Given the description of an element on the screen output the (x, y) to click on. 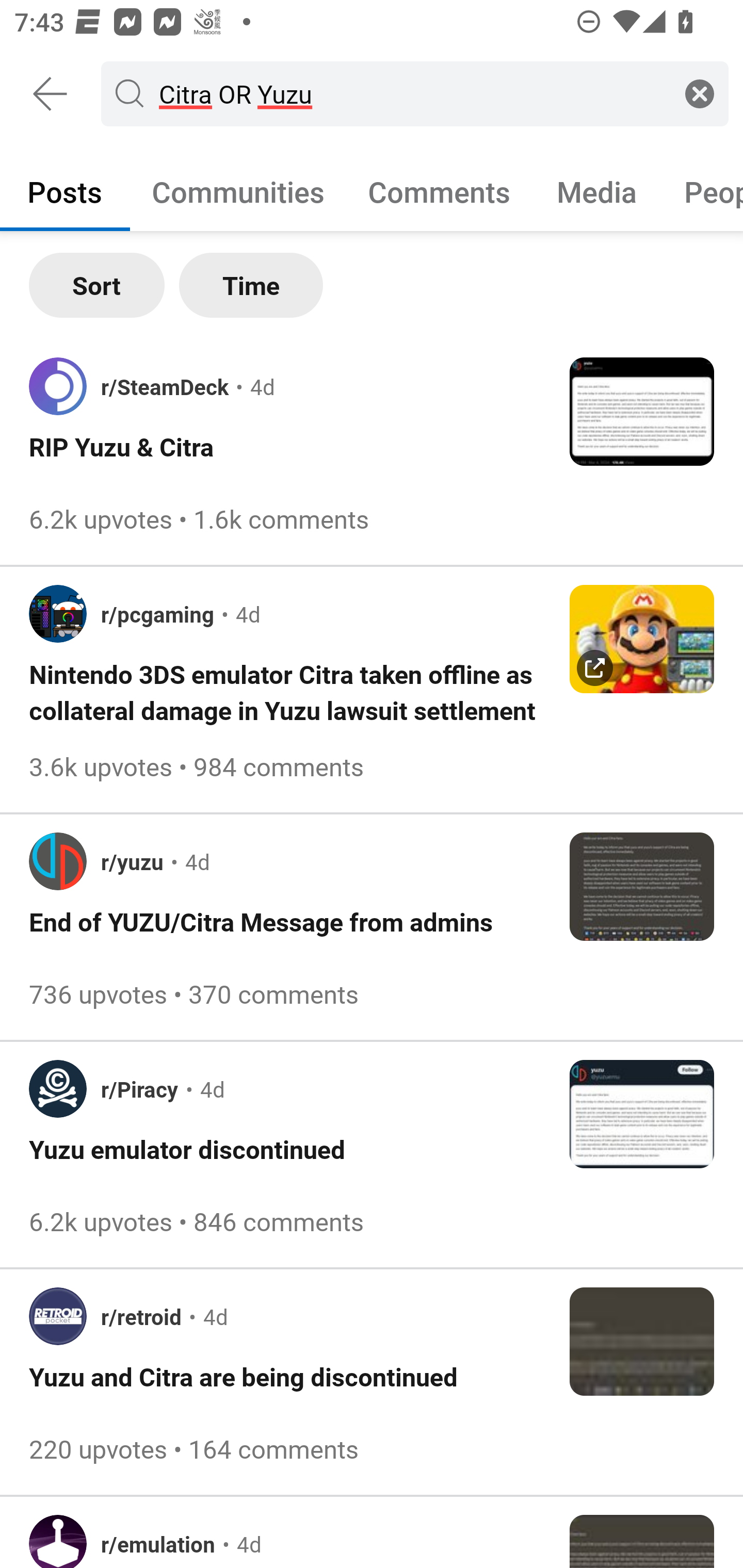
Back (50, 93)
Citra OR Yuzu (410, 93)
Clear search (699, 93)
Communities (238, 191)
Comments (438, 191)
Media (596, 191)
Sort Sort by Most relevant (96, 285)
Time Filter Time by All time (251, 285)
